Given the description of an element on the screen output the (x, y) to click on. 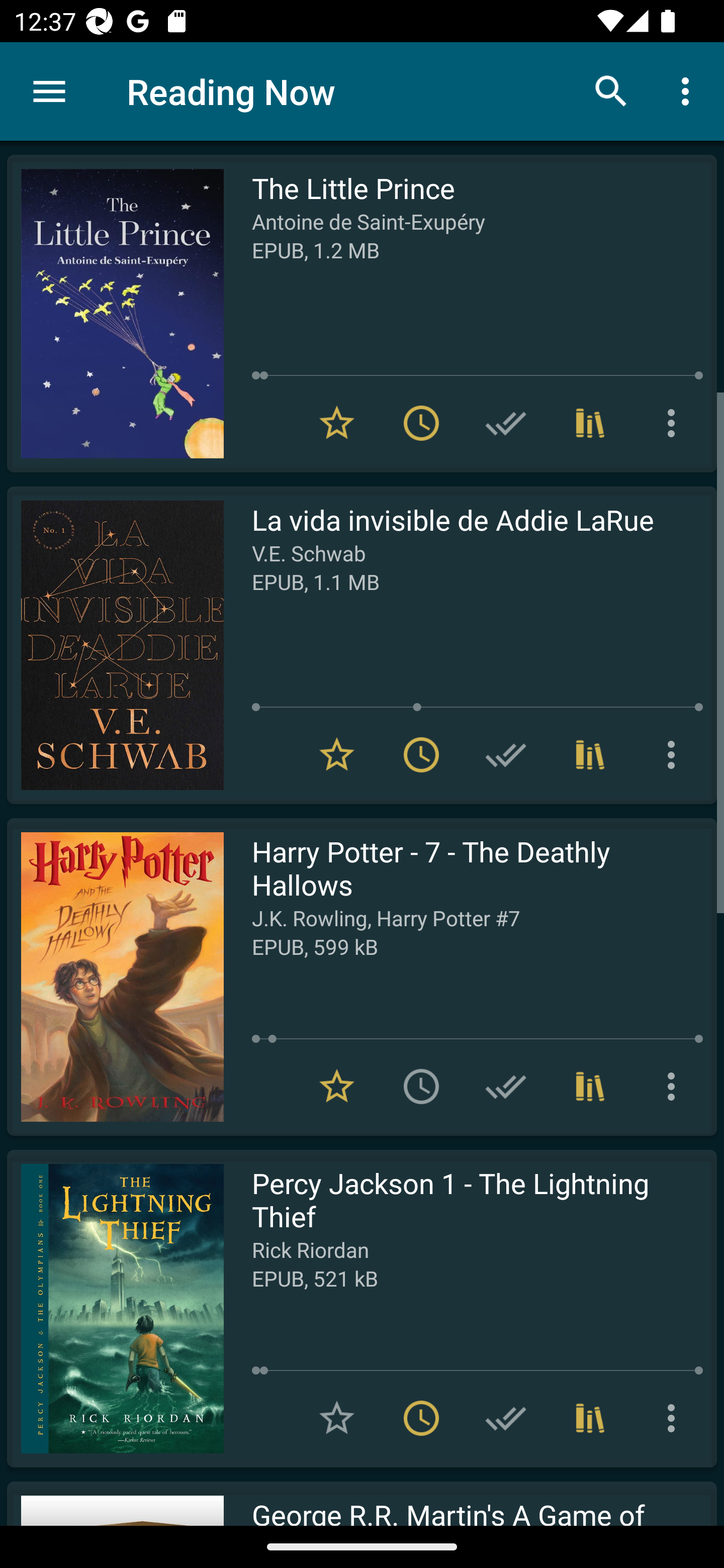
Menu (49, 91)
Search books & documents (611, 90)
More options (688, 90)
Read The Little Prince (115, 313)
Remove from Favorites (336, 423)
Remove from To read (421, 423)
Add to Have read (505, 423)
Collections (1) (590, 423)
More options (674, 423)
Read La vida invisible de Addie LaRue (115, 645)
Remove from Favorites (336, 753)
Remove from To read (421, 753)
Add to Have read (505, 753)
Collections (1) (590, 753)
More options (674, 753)
Read Harry Potter - 7 - The Deathly Hallows (115, 976)
Remove from Favorites (336, 1086)
